Given the description of an element on the screen output the (x, y) to click on. 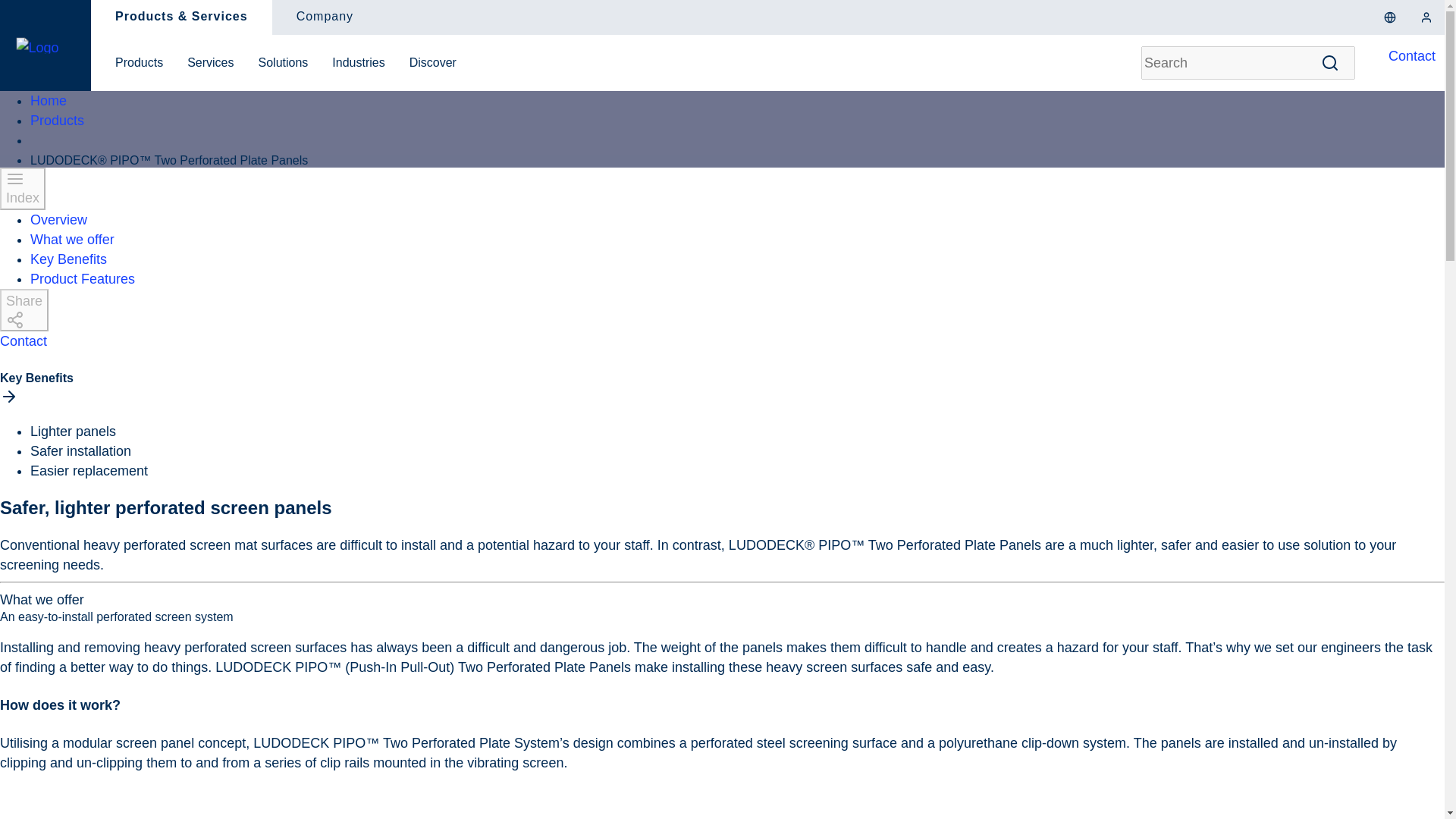
Company (325, 16)
Products (139, 62)
